Given the description of an element on the screen output the (x, y) to click on. 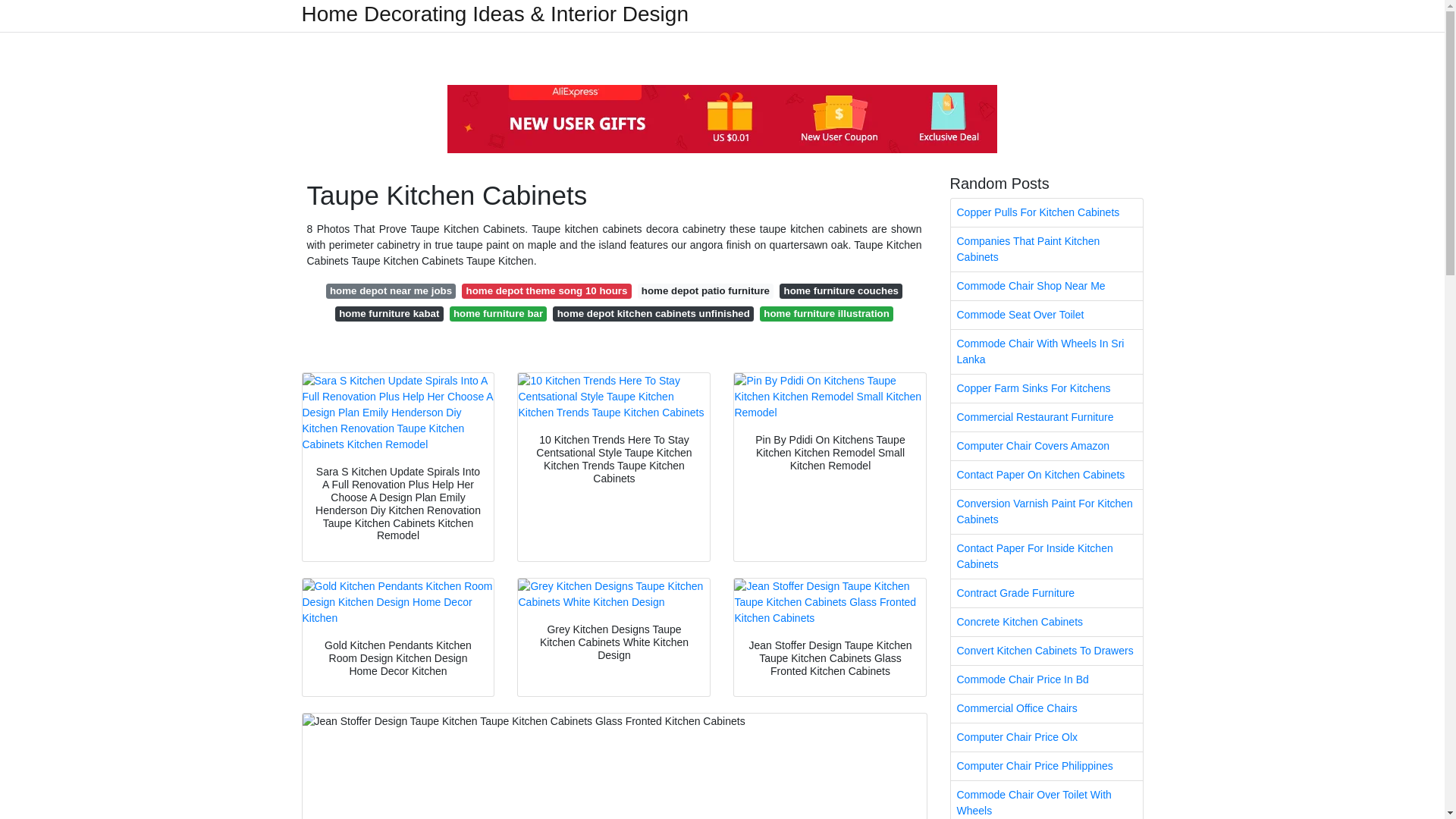
Contact Paper On Kitchen Cabinets (1046, 474)
home furniture bar (498, 313)
Copper Farm Sinks For Kitchens (1046, 388)
home depot patio furniture (705, 290)
Commode Chair With Wheels In Sri Lanka (1046, 351)
home depot theme song 10 hours (545, 290)
Companies That Paint Kitchen Cabinets (1046, 249)
home furniture couches (840, 290)
Commode Chair Shop Near Me (1046, 285)
Commode Seat Over Toilet (1046, 315)
home furniture kabat (389, 313)
home furniture illustration (826, 313)
Copper Pulls For Kitchen Cabinets (1046, 212)
home depot near me jobs (391, 290)
Commercial Restaurant Furniture (1046, 417)
